Given the description of an element on the screen output the (x, y) to click on. 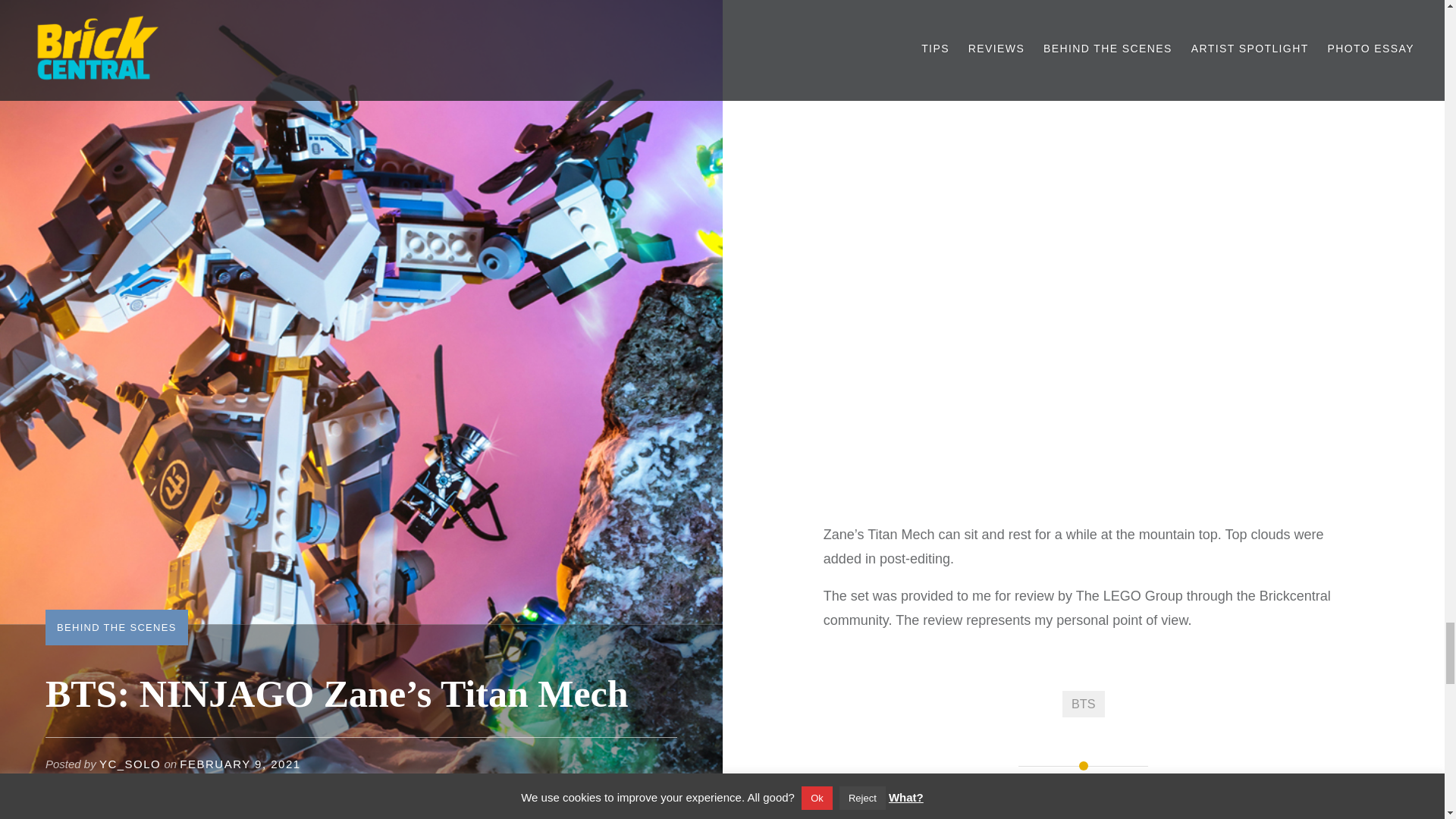
BTS (1083, 703)
